Given the description of an element on the screen output the (x, y) to click on. 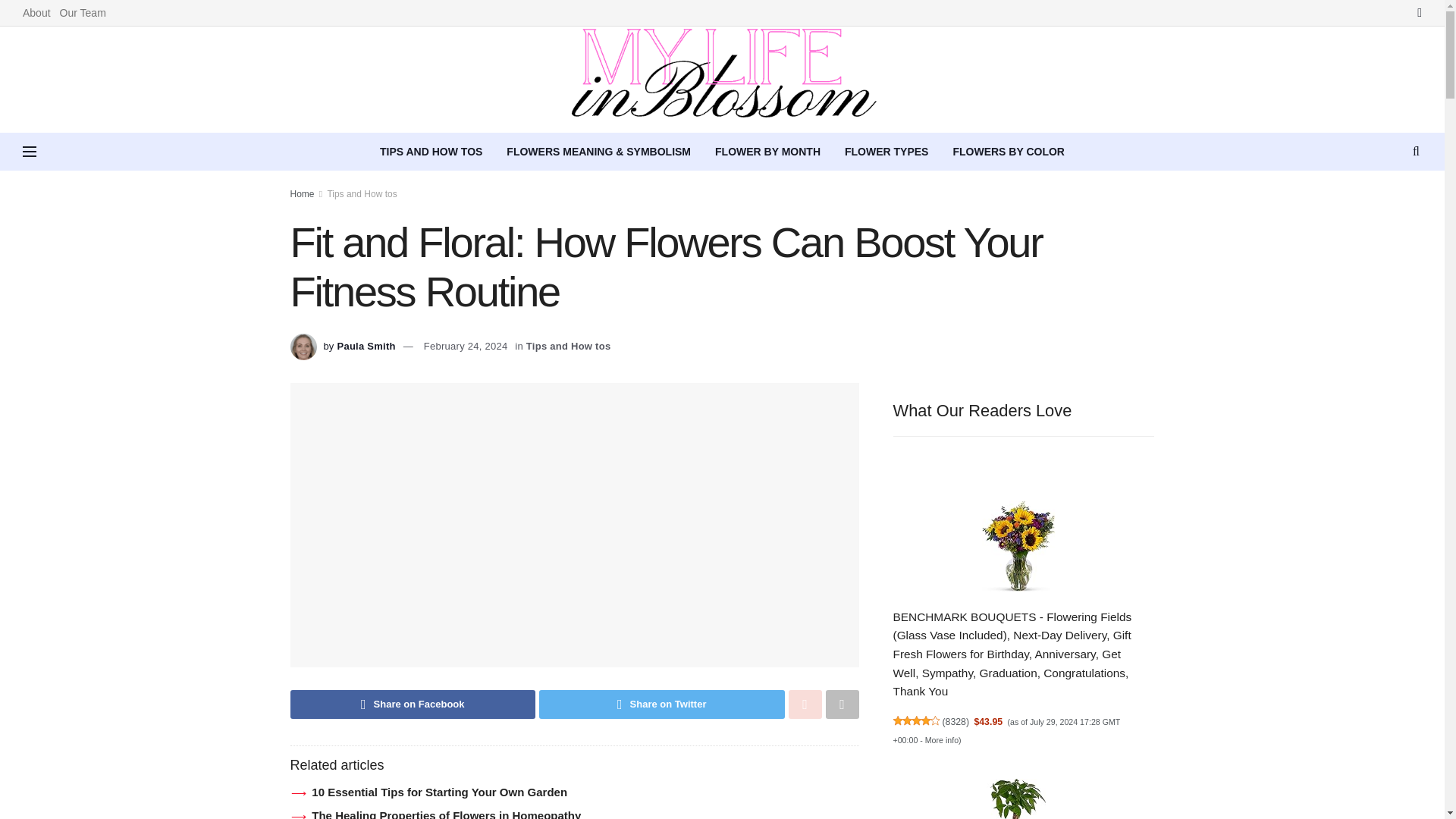
February 24, 2024 (465, 346)
Tips and How tos (568, 346)
Share on Twitter (661, 704)
FLOWER TYPES (886, 151)
Tips and How tos (361, 194)
TIPS AND HOW TOS (431, 151)
FLOWERS BY COLOR (1008, 151)
Paula Smith (365, 346)
About (36, 12)
FLOWER BY MONTH (767, 151)
10 Essential Tips for Starting Your Own Garden (439, 791)
Home (301, 194)
Share on Facebook (412, 704)
The Healing Properties of Flowers in Homeopathy (445, 814)
Our Team (82, 12)
